Given the description of an element on the screen output the (x, y) to click on. 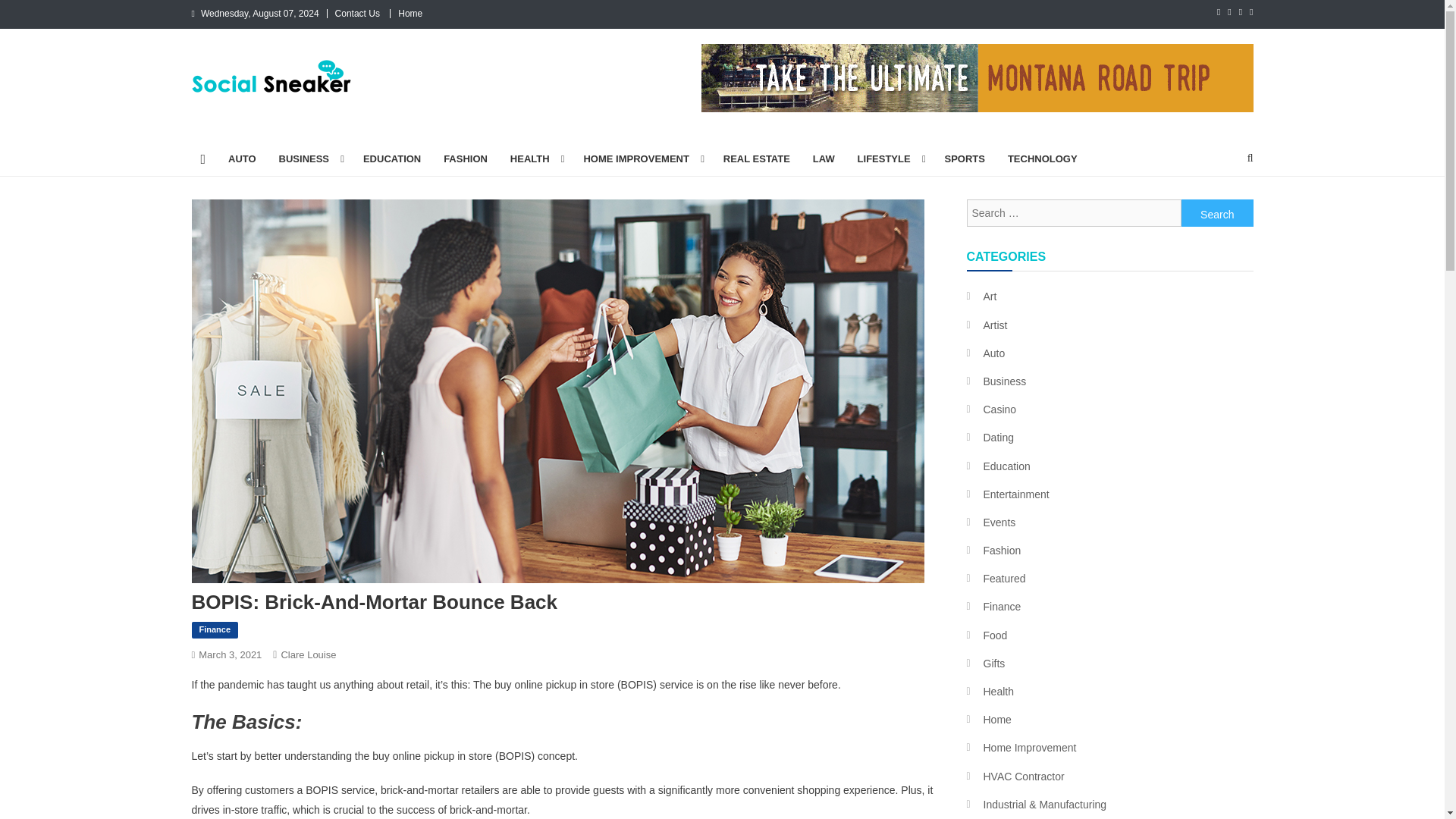
Contact Us (357, 13)
LIFESTYLE (889, 159)
SPORTS (964, 159)
March 3, 2021 (230, 654)
Home (409, 13)
REAL ESTATE (756, 159)
EDUCATION (392, 159)
AUTO (241, 159)
Search (1216, 212)
Finance (214, 629)
